Given the description of an element on the screen output the (x, y) to click on. 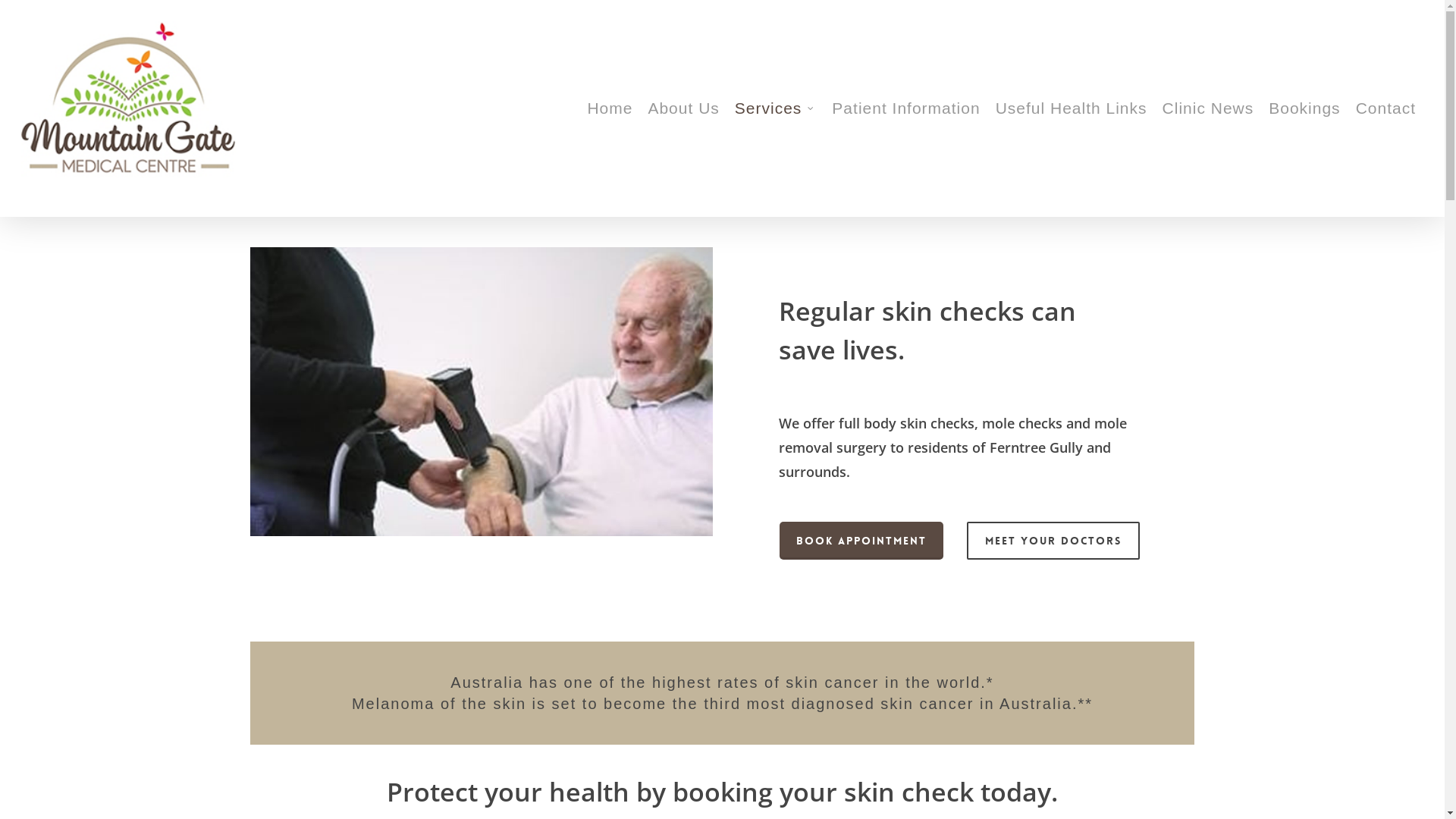
Contact Element type: text (1385, 108)
Bookings Element type: text (1304, 108)
Patient Information Element type: text (905, 108)
Clinic News Element type: text (1207, 108)
Services Element type: text (776, 108)
About Us Element type: text (683, 108)
Useful Health Links Element type: text (1071, 108)
BOOK APPOINTMENT Element type: text (861, 540)
Meet your doctors Element type: text (1052, 540)
Home Element type: text (609, 108)
